Given the description of an element on the screen output the (x, y) to click on. 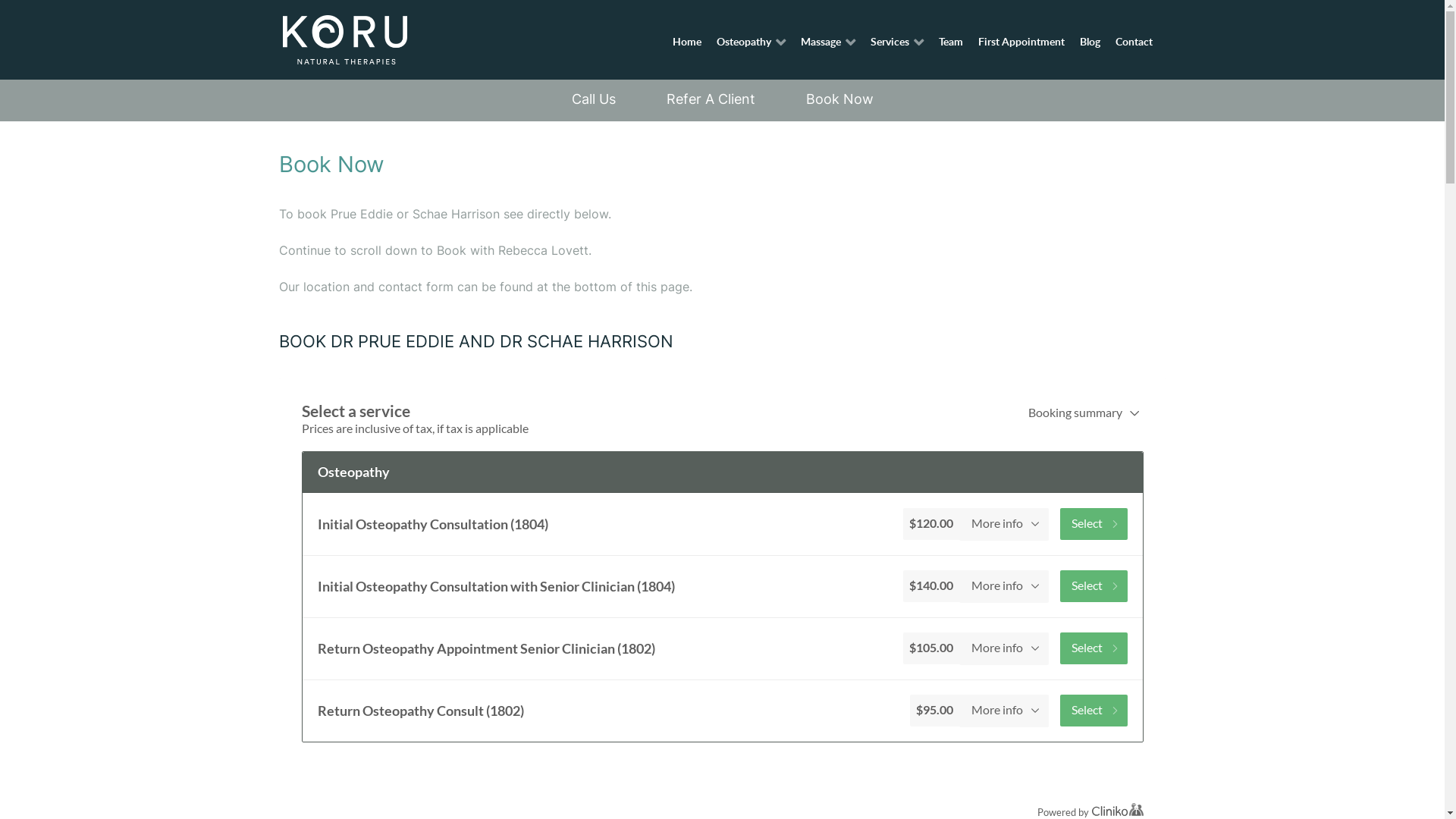
Massage Element type: text (827, 40)
Home Element type: text (687, 40)
Osteopathy Element type: text (751, 40)
Refer A Client Element type: text (709, 99)
First Appointment Element type: text (1021, 40)
Call Us Element type: text (593, 99)
Team Element type: text (950, 40)
Contact Element type: text (1134, 40)
osteopathy natural therapies Element type: hover (343, 39)
Book Now Element type: text (838, 99)
Blog Element type: text (1089, 40)
Services Element type: text (896, 40)
